Given the description of an element on the screen output the (x, y) to click on. 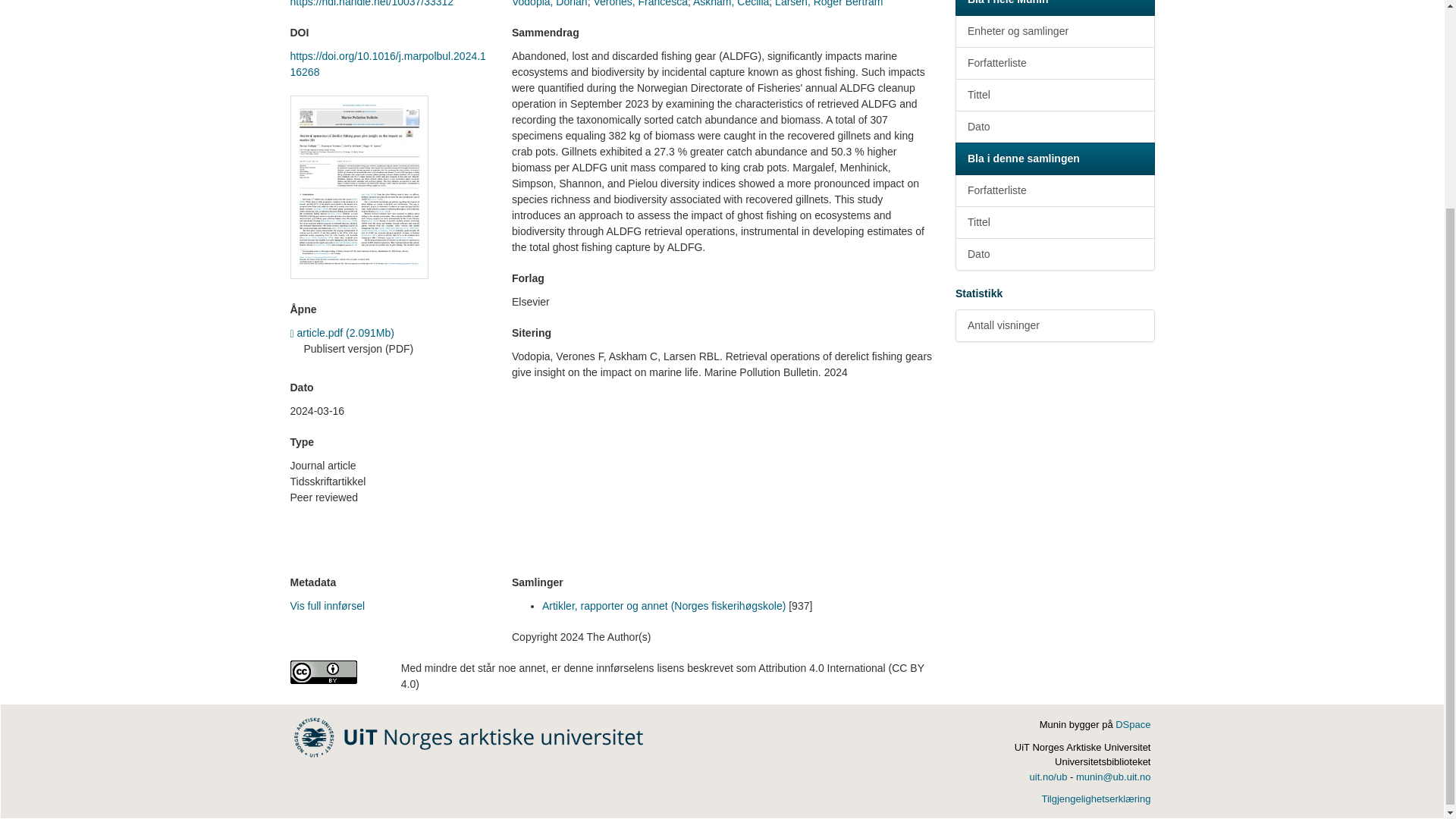
Forfatterliste (1054, 62)
Enheter og samlinger (1054, 31)
Bla i hele Munin (1054, 7)
Verones, Francesca (639, 3)
Larsen, Roger Bertram (828, 3)
Askham, Cecilia (730, 3)
Dato (1054, 126)
Tittel (1054, 94)
Bla i denne samlingen (1054, 158)
Vodopia, Dorian (550, 3)
